Given the description of an element on the screen output the (x, y) to click on. 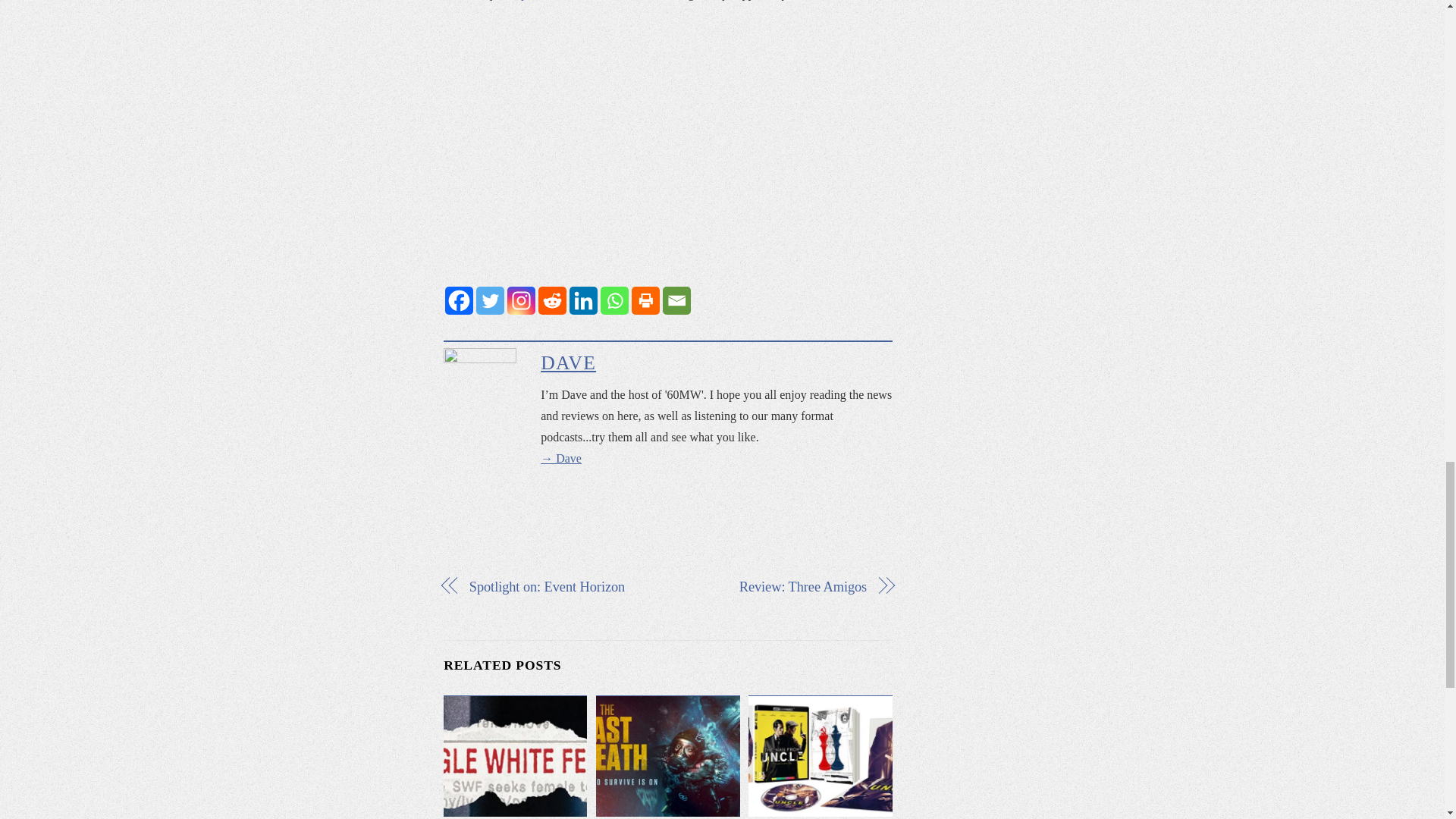
Facebook (459, 300)
Twitter (489, 300)
Print (645, 300)
Instagram (520, 300)
Reddit (552, 300)
Linkedin (582, 300)
Whatsapp (613, 300)
